Given the description of an element on the screen output the (x, y) to click on. 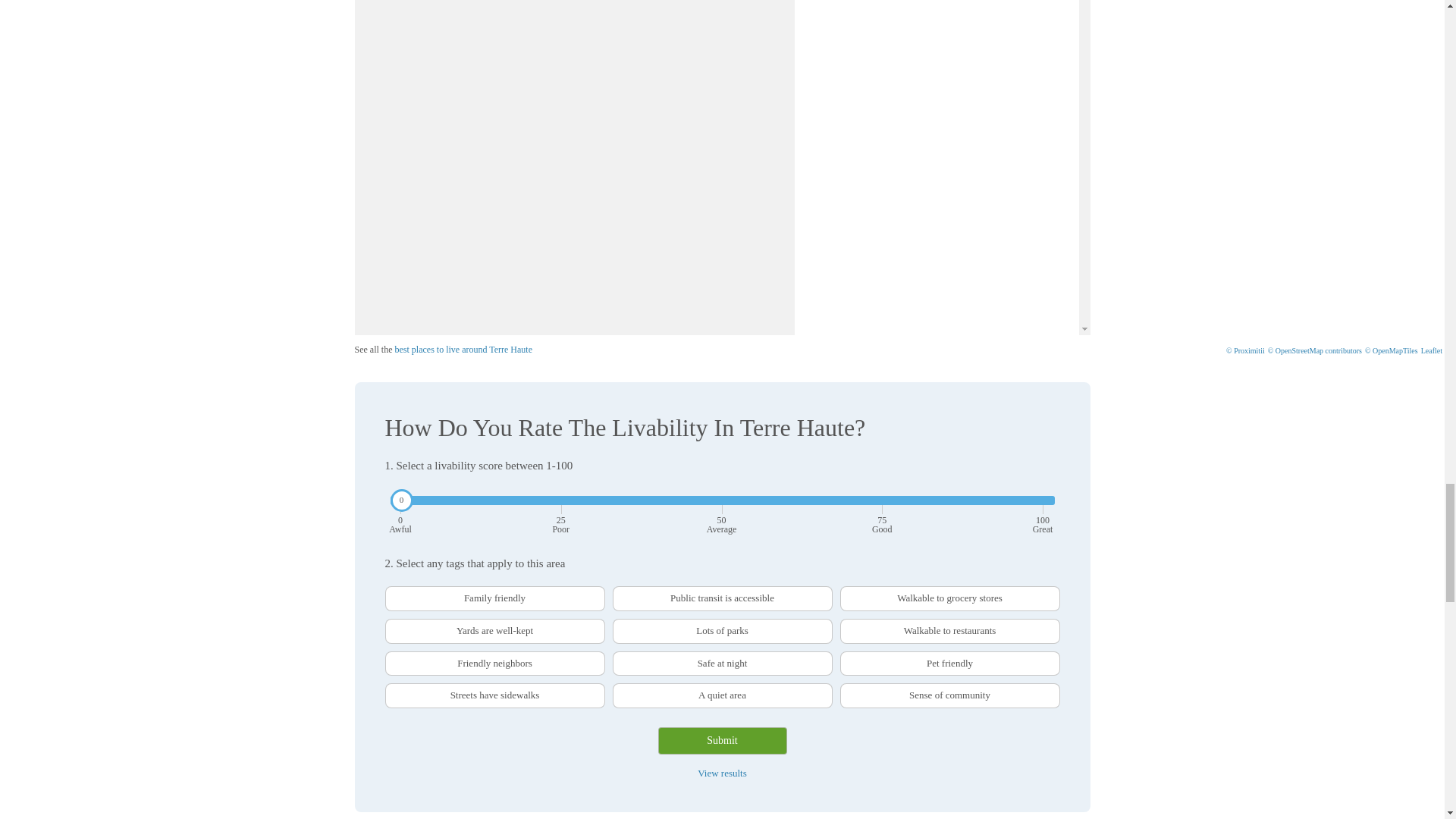
00004 (389, 591)
00008 (389, 591)
00010 (389, 591)
0 (722, 499)
00020 (389, 591)
00400 (389, 591)
00001 (389, 591)
00100 (389, 591)
00080 (389, 591)
00040 (389, 591)
